Given the description of an element on the screen output the (x, y) to click on. 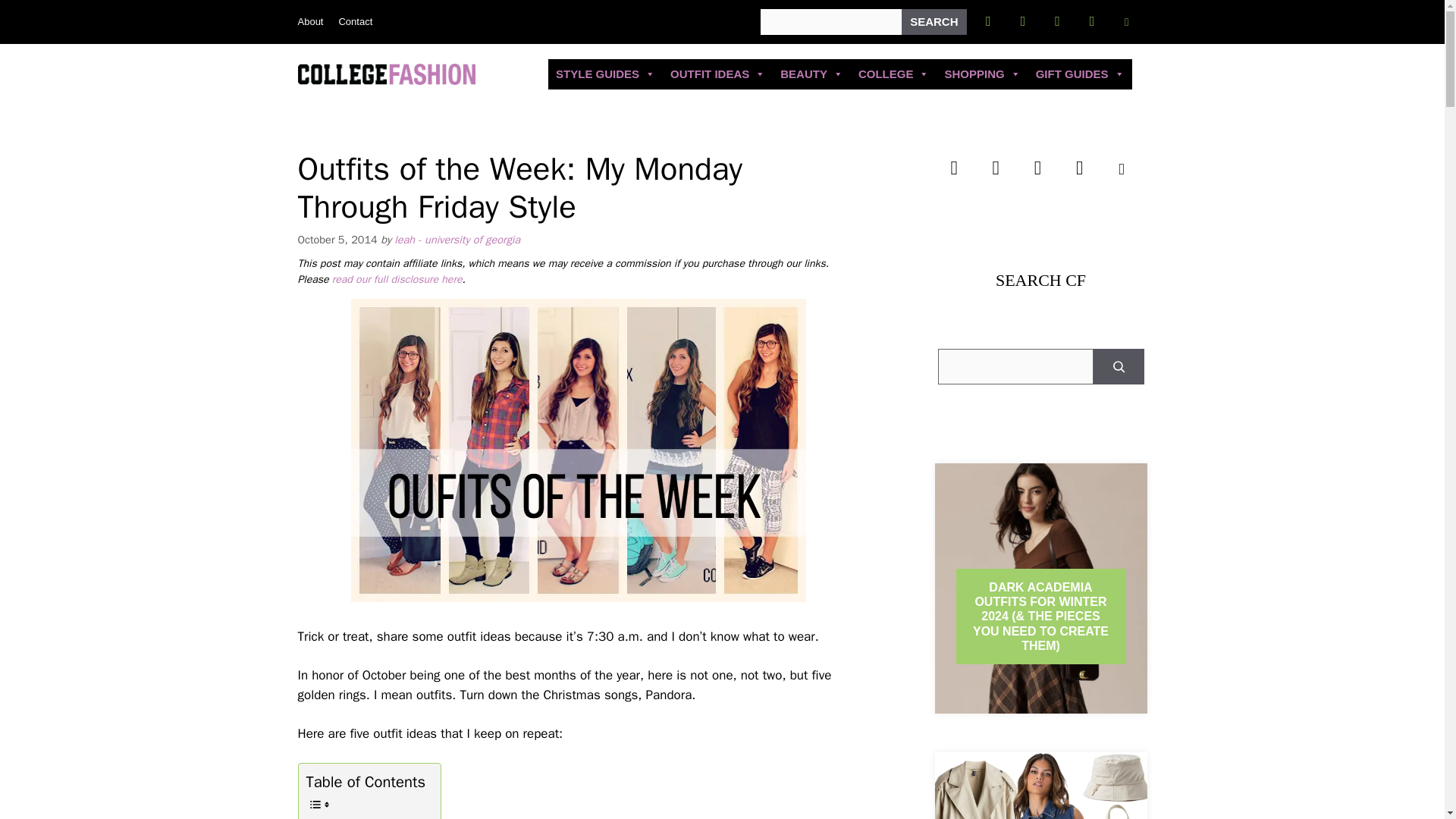
About (310, 21)
Pinterest (1091, 21)
OUTFIT IDEAS (717, 73)
Facebook (988, 21)
STYLE GUIDES (605, 73)
Search for: (830, 22)
Blog Lovin' (1126, 21)
Contact (354, 21)
View all posts by Leah - University of Georgia (456, 239)
Facebook (954, 167)
